Given the description of an element on the screen output the (x, y) to click on. 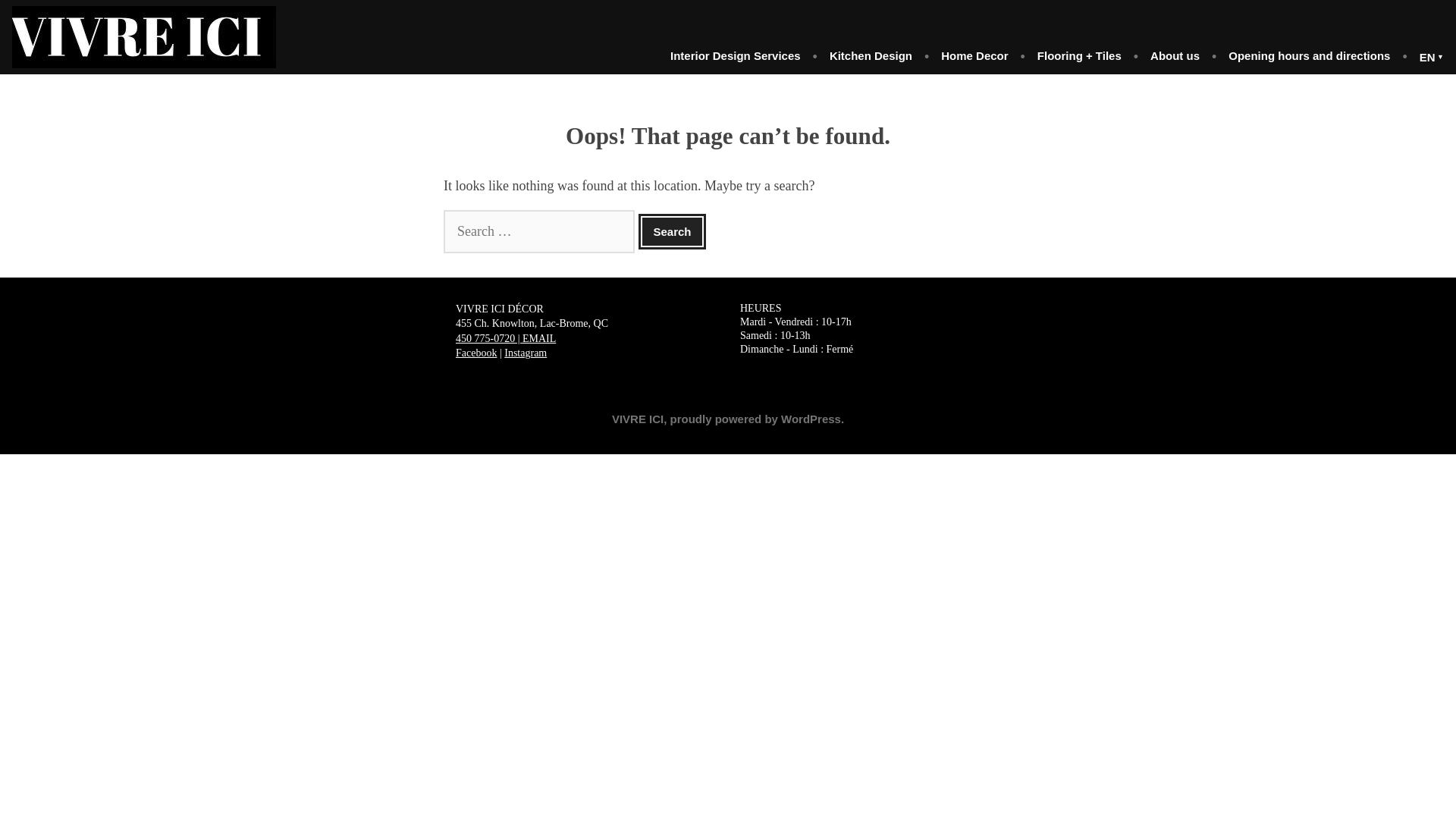
EN (1425, 56)
Kitchen Design (870, 56)
Facebook (475, 352)
Opening hours and directions (1308, 56)
Search (672, 231)
Home Decor (974, 56)
EN (1425, 56)
Search (672, 231)
About us (1174, 56)
VIVRE ICI (637, 418)
